Given the description of an element on the screen output the (x, y) to click on. 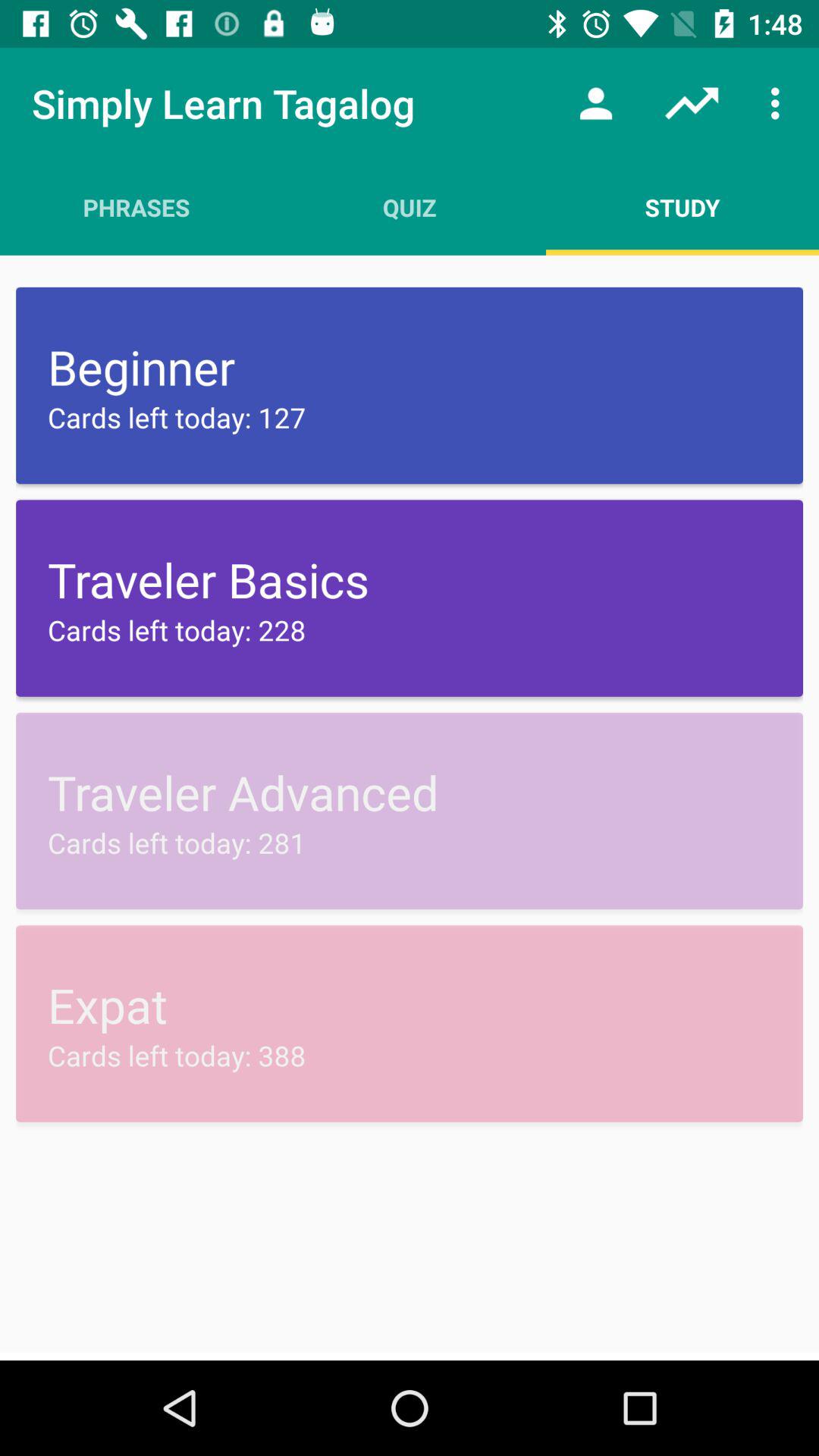
tap icon next to the study app (409, 207)
